Given the description of an element on the screen output the (x, y) to click on. 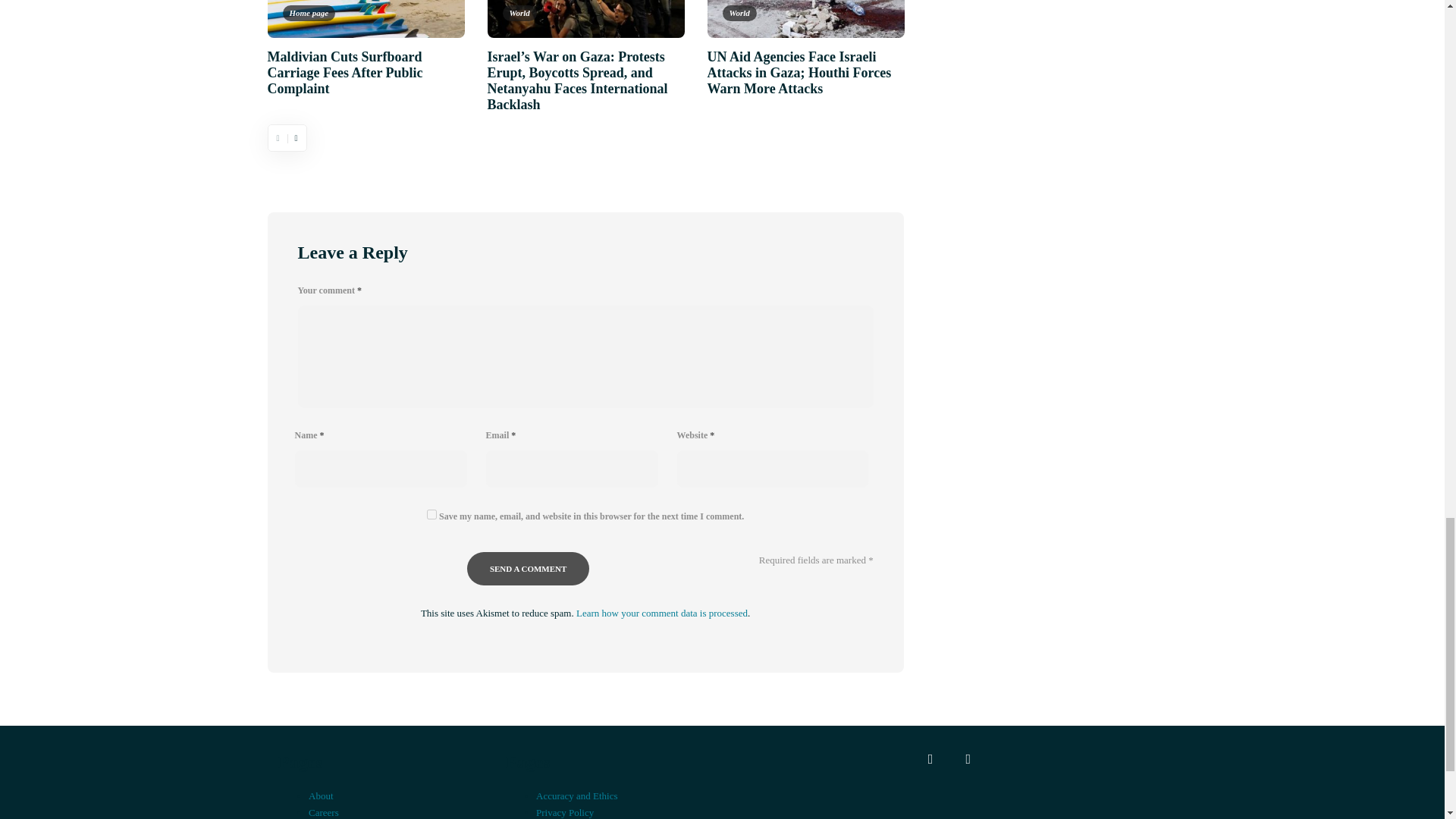
Send a comment (528, 568)
yes (431, 514)
